Given the description of an element on the screen output the (x, y) to click on. 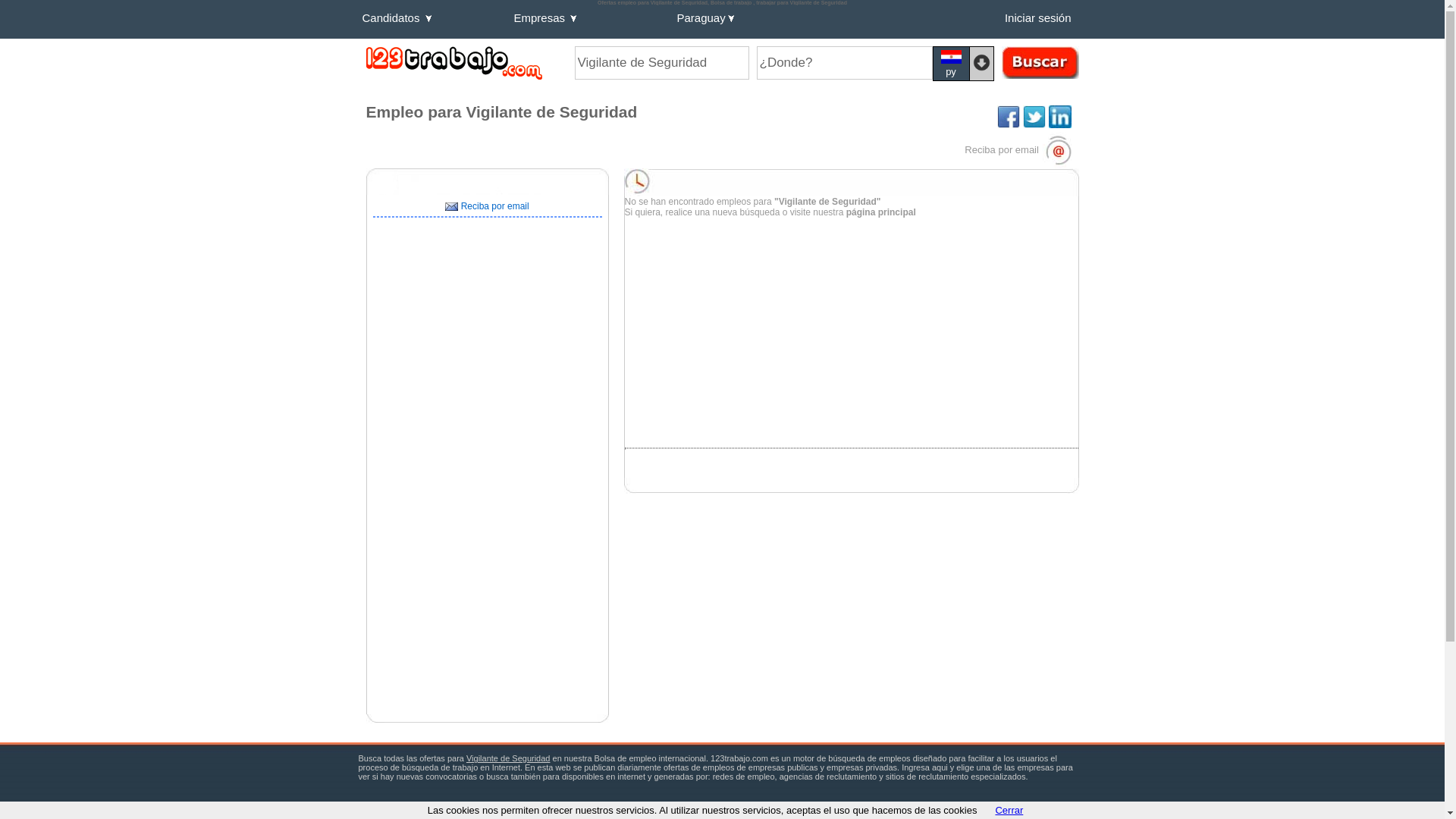
Advertisement Element type: hover (486, 529)
123trabajo en twitter Element type: hover (1033, 116)
Vigilante de Seguridad Element type: text (508, 757)
Advertisement Element type: hover (486, 671)
  py Element type: text (950, 63)
123trabajo en facebook Element type: hover (1008, 116)
Candidatos Element type: text (433, 21)
Advertisement Element type: hover (486, 338)
Reciba por email Element type: text (486, 205)
Empresas Element type: text (590, 21)
Reciba por email Element type: text (1017, 149)
Advertisement Element type: hover (801, 458)
Advertisement Element type: hover (756, 323)
Cerrar Element type: text (1008, 809)
Paraguay Element type: text (738, 21)
123trabajo.com en  Linkedin Element type: hover (1059, 116)
